Given the description of an element on the screen output the (x, y) to click on. 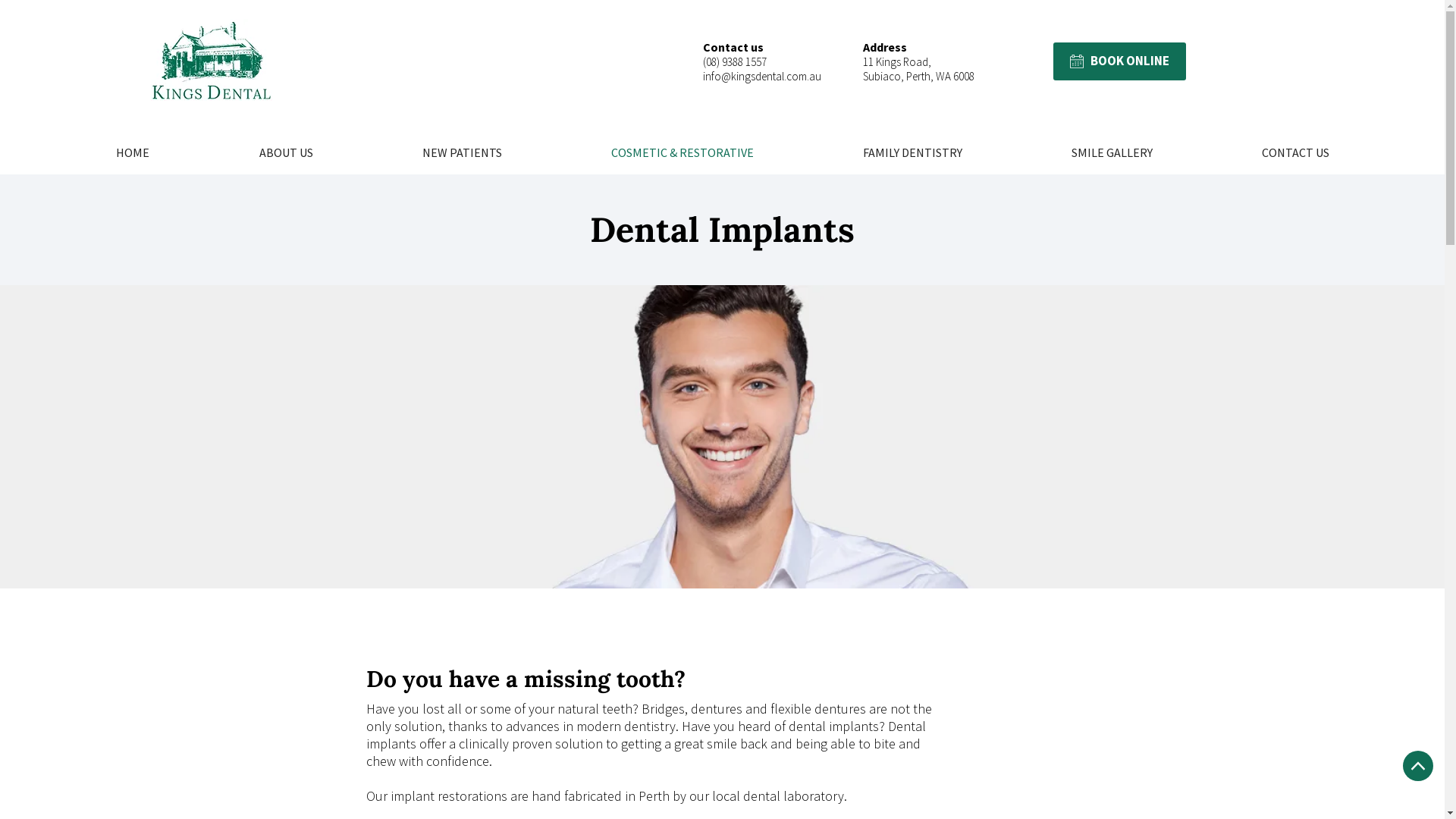
HOME Element type: text (131, 152)
BOOK ONLINE Element type: text (1119, 61)
(08) 9388 1557 Element type: text (734, 61)
CONTACT US Element type: text (1295, 152)
SMILE GALLERY Element type: text (1111, 152)
Back To Top Element type: hover (1417, 765)
COSMETIC & RESTORATIVE Element type: text (682, 152)
info@kingsdental.com.au Element type: text (761, 76)
ABOUT US Element type: text (285, 152)
FAMILY DENTISTRY Element type: text (912, 152)
NEW PATIENTS Element type: text (461, 152)
